Given the description of an element on the screen output the (x, y) to click on. 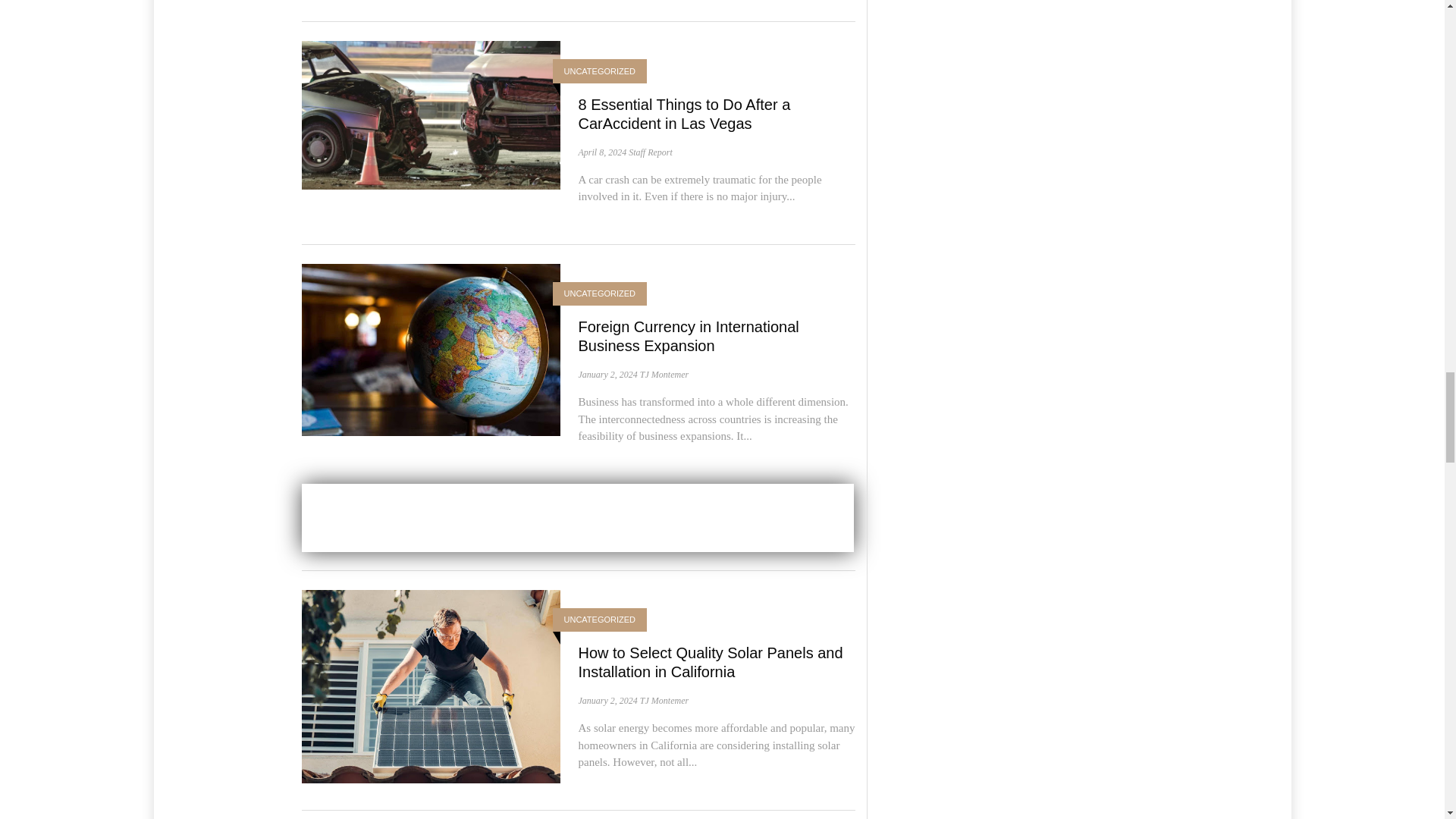
Posts by TJ Montemer (664, 374)
Foreign Currency in International Business Expansion (687, 335)
Posts by Staff Report (650, 152)
8 Essential Things to Do After a CarAccident in Las Vegas (684, 113)
8 Essential Things to Do After a CarAccident in Las Vegas (430, 114)
Foreign Currency in International Business Expansion (430, 348)
